Given the description of an element on the screen output the (x, y) to click on. 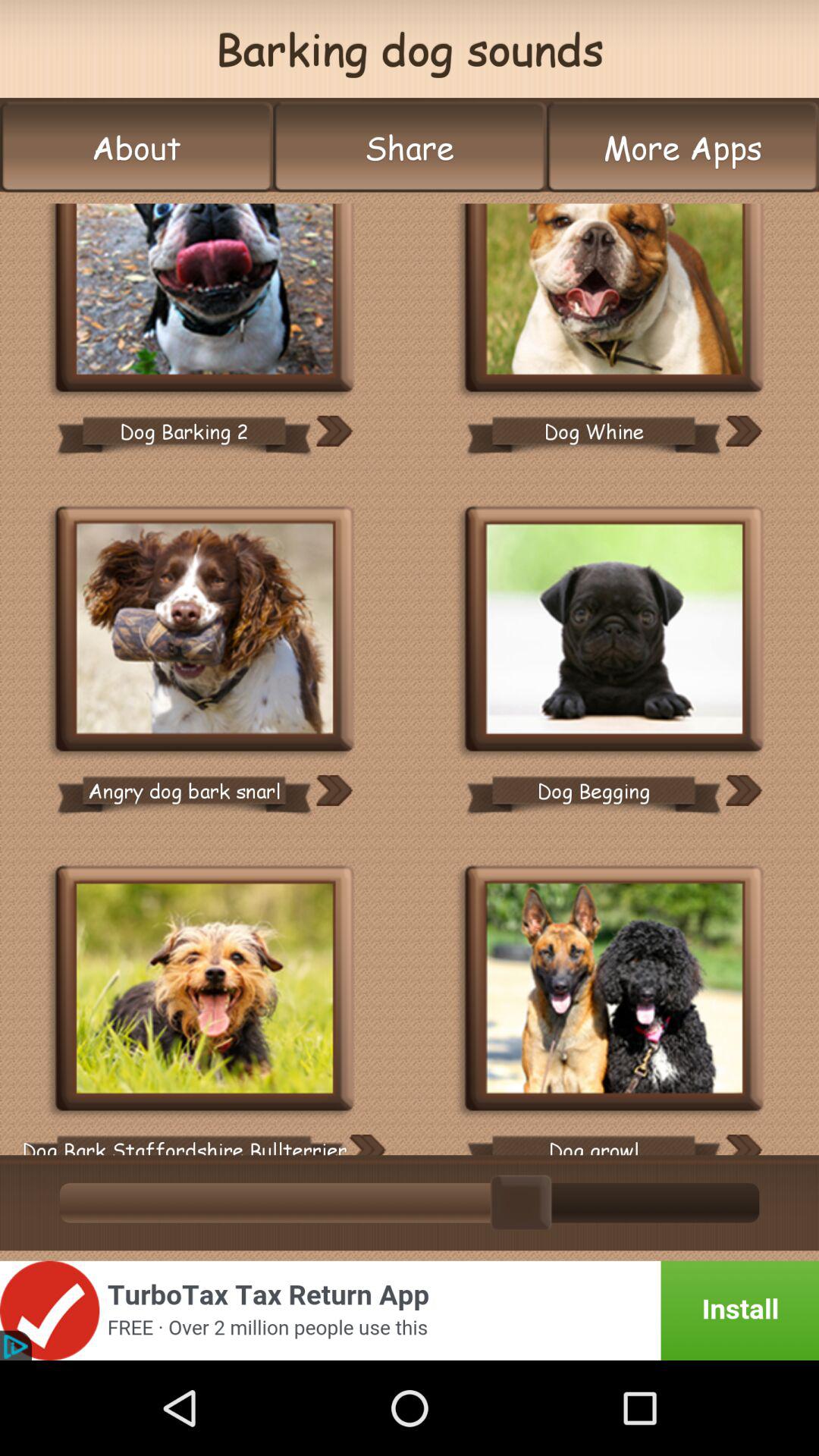
play sound (743, 430)
